Given the description of an element on the screen output the (x, y) to click on. 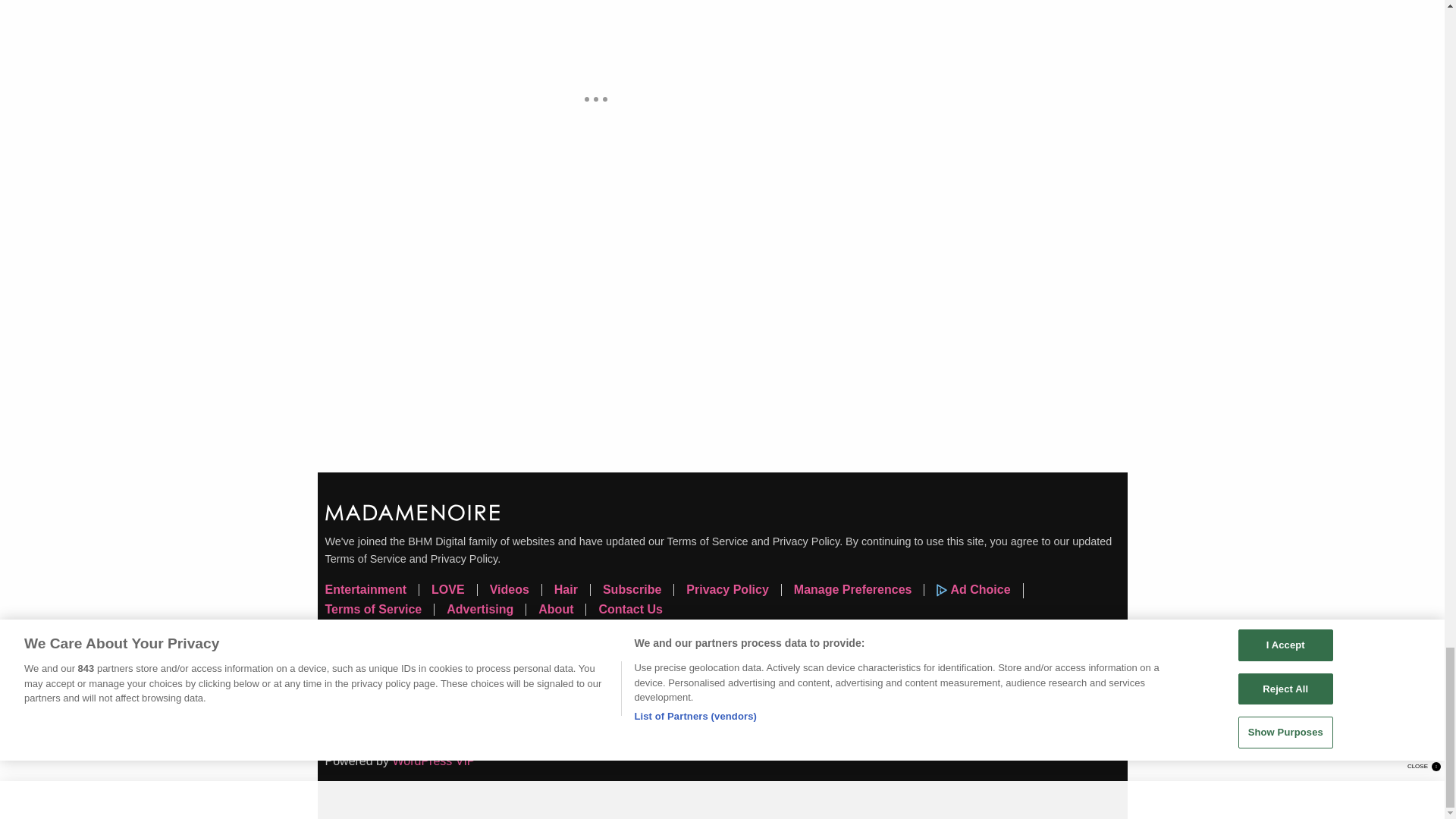
Vuukle Comments Widget (595, 326)
Entertainment (371, 589)
LOVE (453, 589)
